Given the description of an element on the screen output the (x, y) to click on. 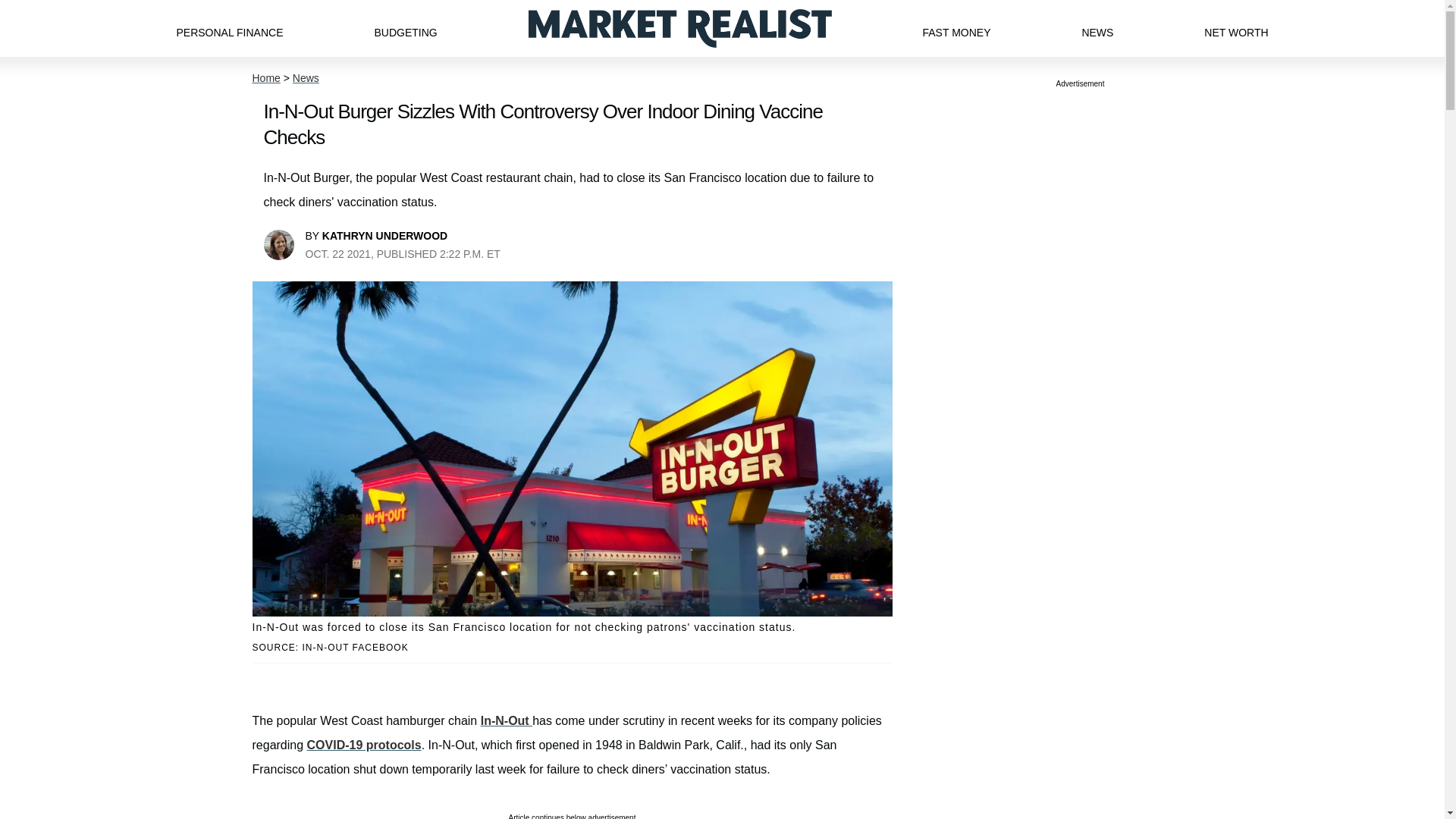
PERSONAL FINANCE (229, 27)
KATHRYN UNDERWOOD (383, 235)
NEWS (1097, 27)
FAST MONEY (955, 27)
BUDGETING (405, 27)
SOURCE: IN-N-OUT FACEBOOK (571, 647)
News (305, 78)
Home (265, 78)
In-N-Out (506, 720)
NET WORTH (1236, 27)
COVID-19 protocols (364, 744)
